Given the description of an element on the screen output the (x, y) to click on. 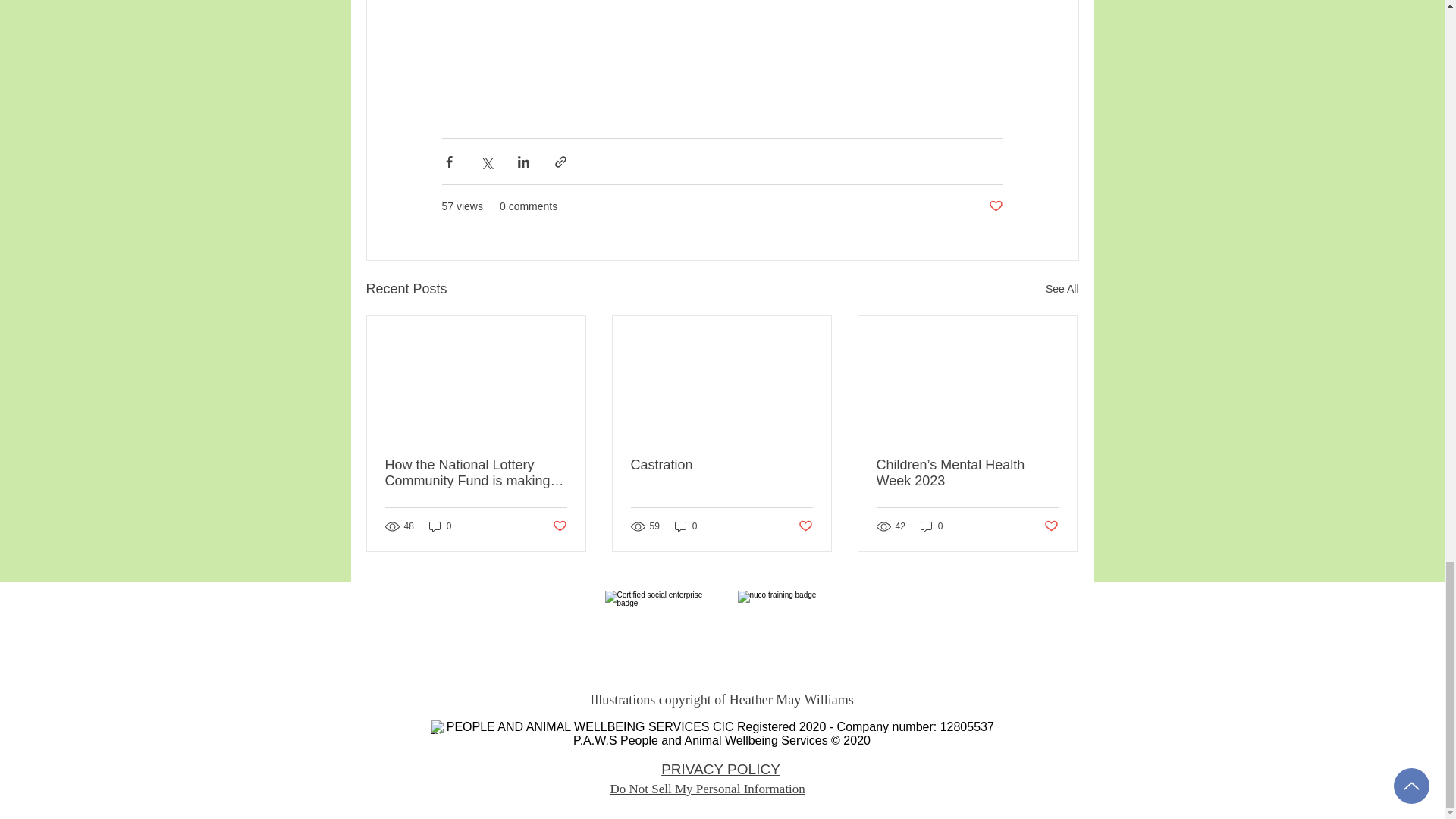
Do Not Sell My Personal Information (707, 789)
Castration (721, 465)
Post not marked as liked (558, 526)
Post not marked as liked (995, 206)
0 (440, 526)
Post not marked as liked (1050, 526)
See All (1061, 289)
0 (685, 526)
Post not marked as liked (804, 526)
0 (931, 526)
PRIVACY POLICY (720, 769)
